Given the description of an element on the screen output the (x, y) to click on. 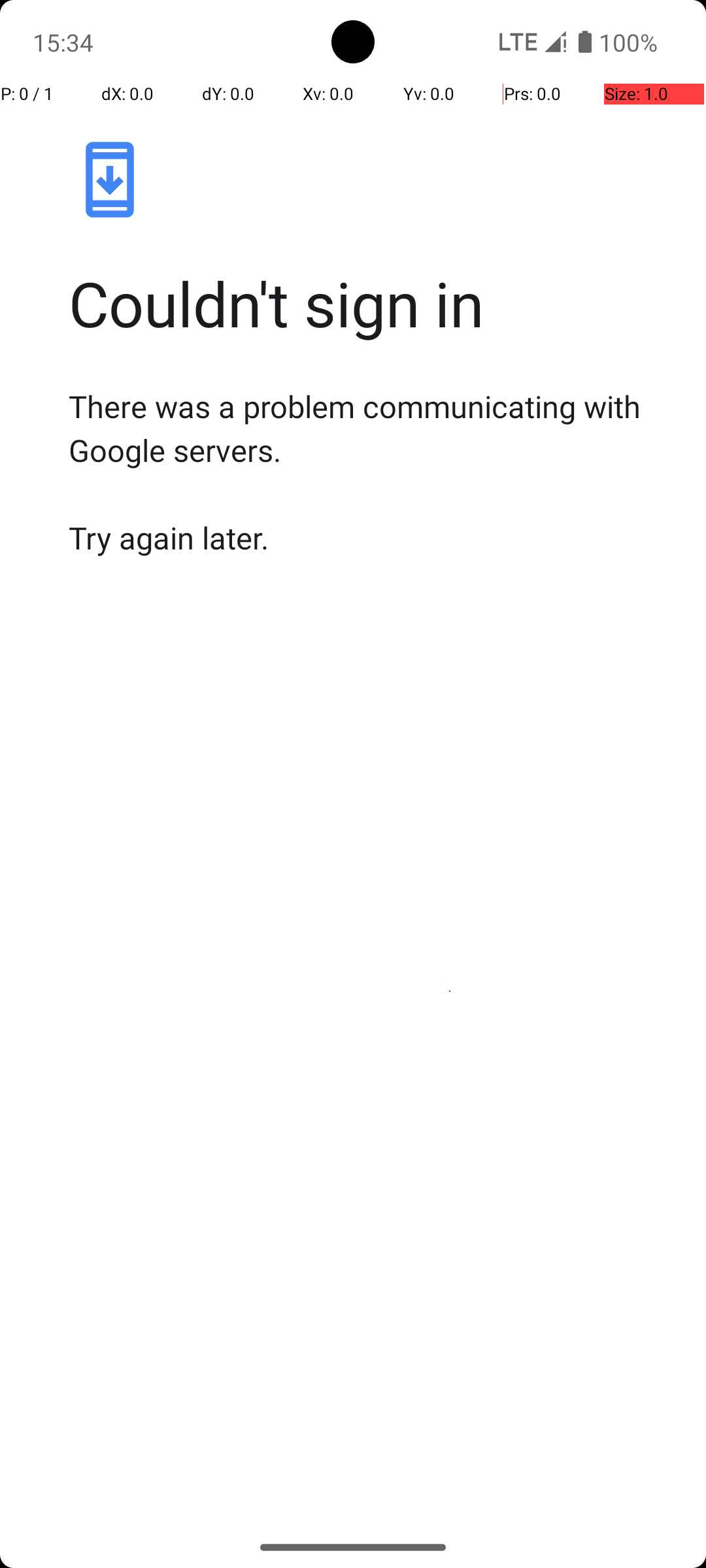
Couldn't sign in Element type: android.widget.TextView (366, 302)
There was a problem communicating with Google servers. 

Try again later. Element type: android.widget.TextView (366, 471)
